Given the description of an element on the screen output the (x, y) to click on. 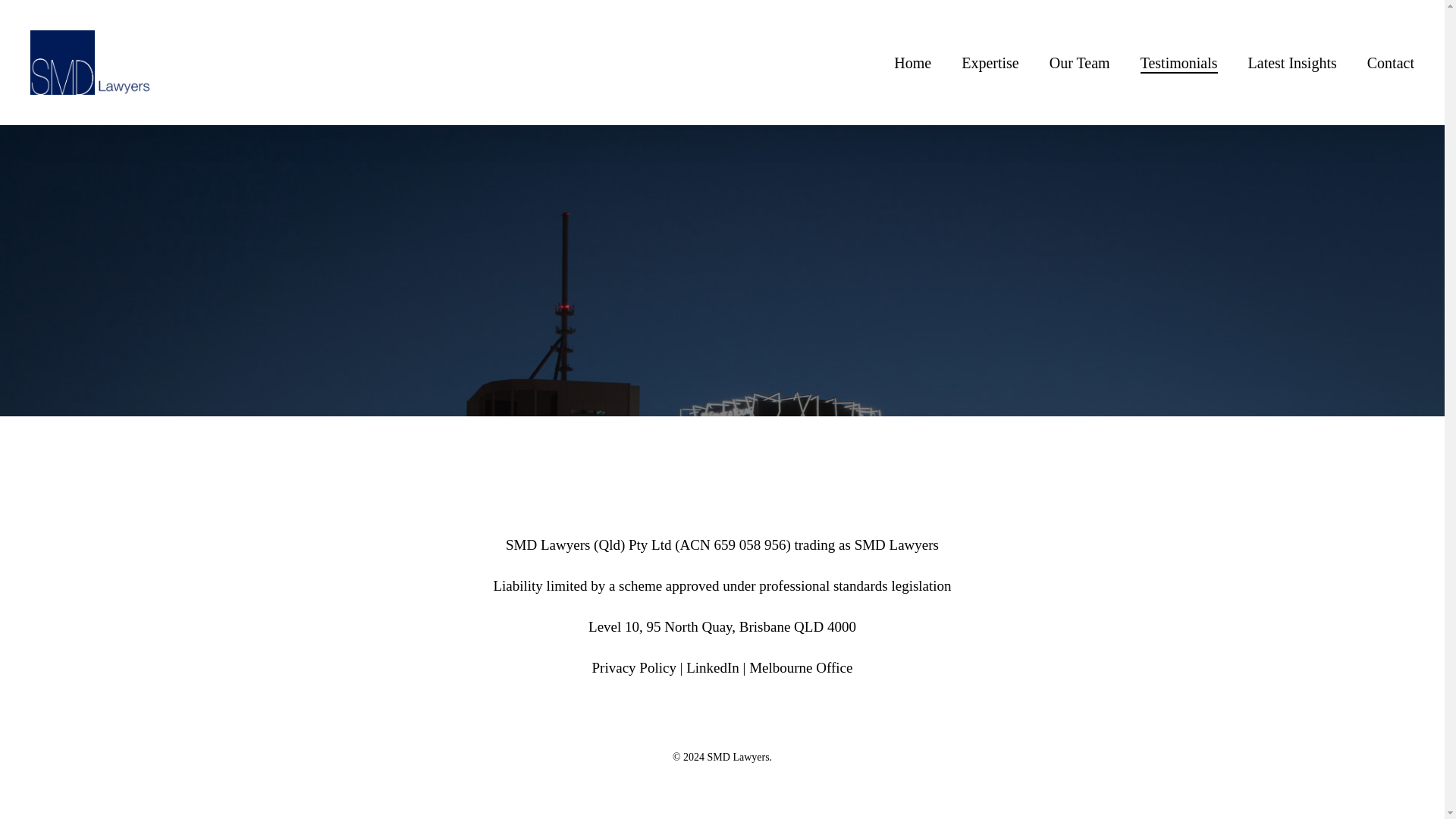
Melbourne Office (800, 667)
Latest Insights (1291, 62)
Expertise (989, 62)
Contact (1390, 62)
Privacy Policy (634, 667)
Testimonials (1178, 62)
Home (912, 62)
Our Team (1079, 62)
LinkedIn (712, 667)
